Given the description of an element on the screen output the (x, y) to click on. 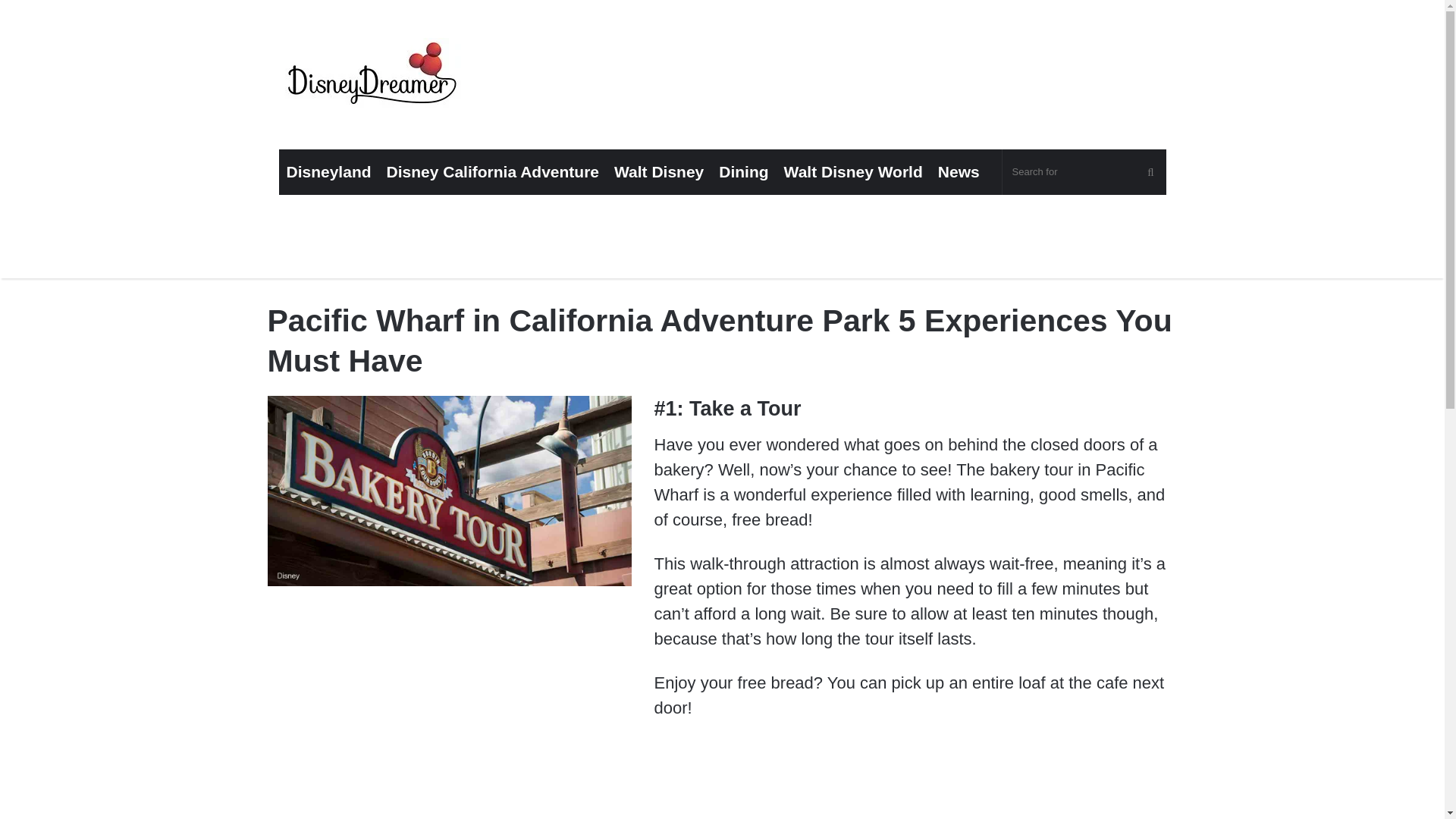
DisneyDreamer.com (373, 77)
News (958, 171)
Disneyland (328, 171)
Walt Disney World (853, 171)
Disney California Adventure (492, 171)
Dining (743, 171)
Walt Disney (659, 171)
Search for (1084, 171)
